Given the description of an element on the screen output the (x, y) to click on. 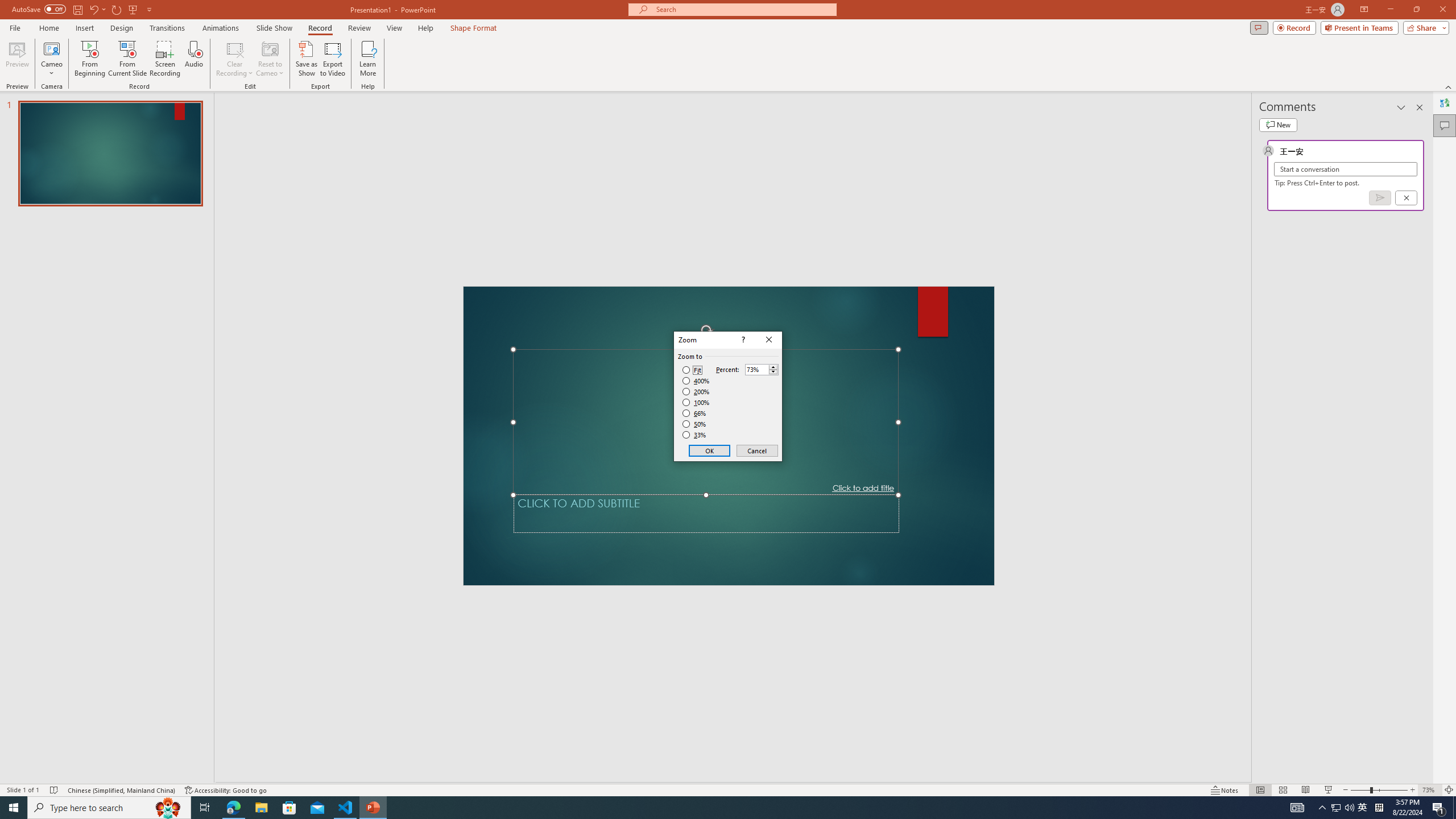
File Explorer (261, 807)
Shape Format (473, 28)
Preview (17, 58)
More (772, 366)
Zoom 73% (1430, 790)
Export to Video (332, 58)
New comment (1278, 124)
Q2790: 100% (1349, 807)
